Given the description of an element on the screen output the (x, y) to click on. 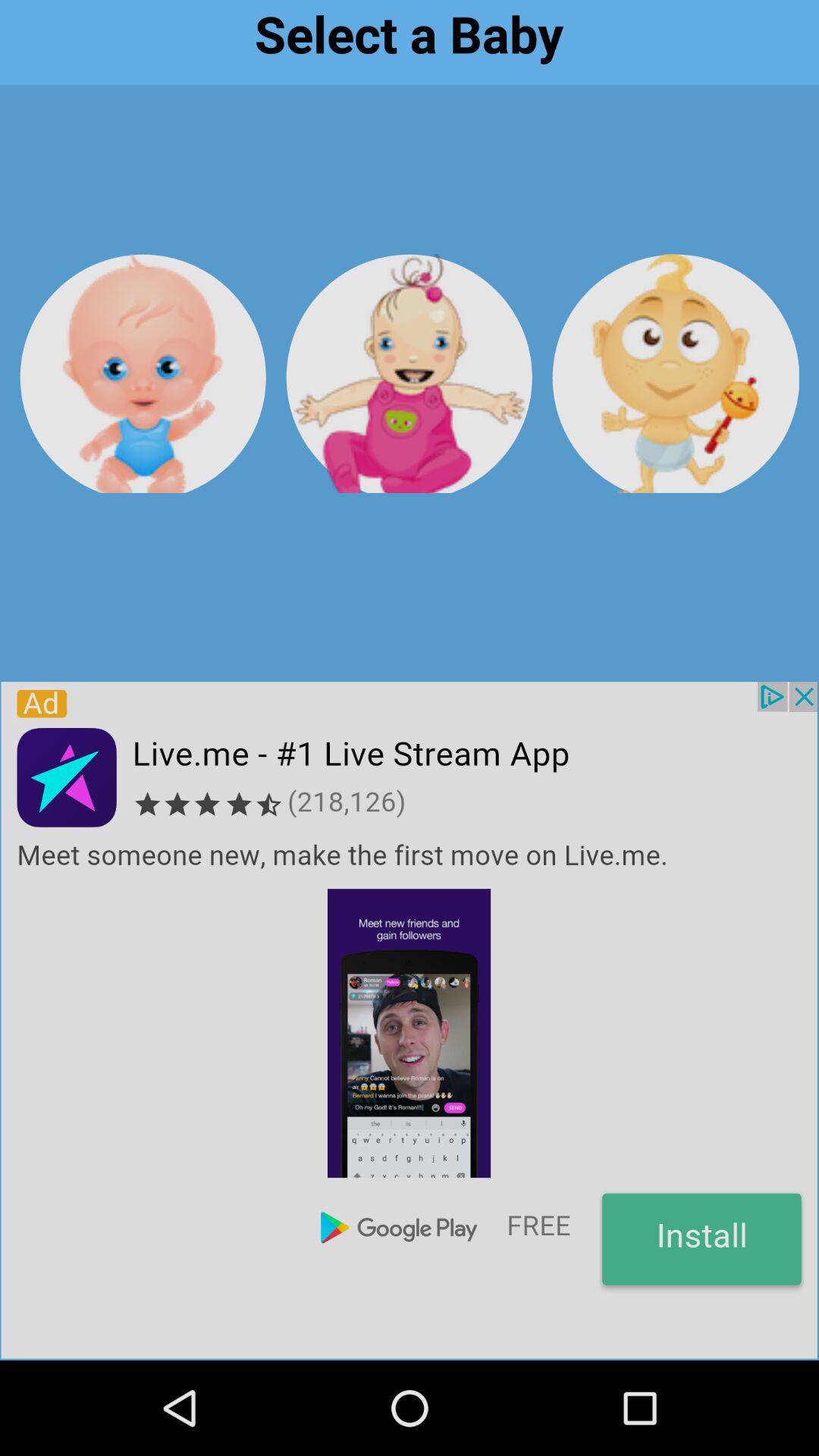
choose a baby (675, 373)
